Given the description of an element on the screen output the (x, y) to click on. 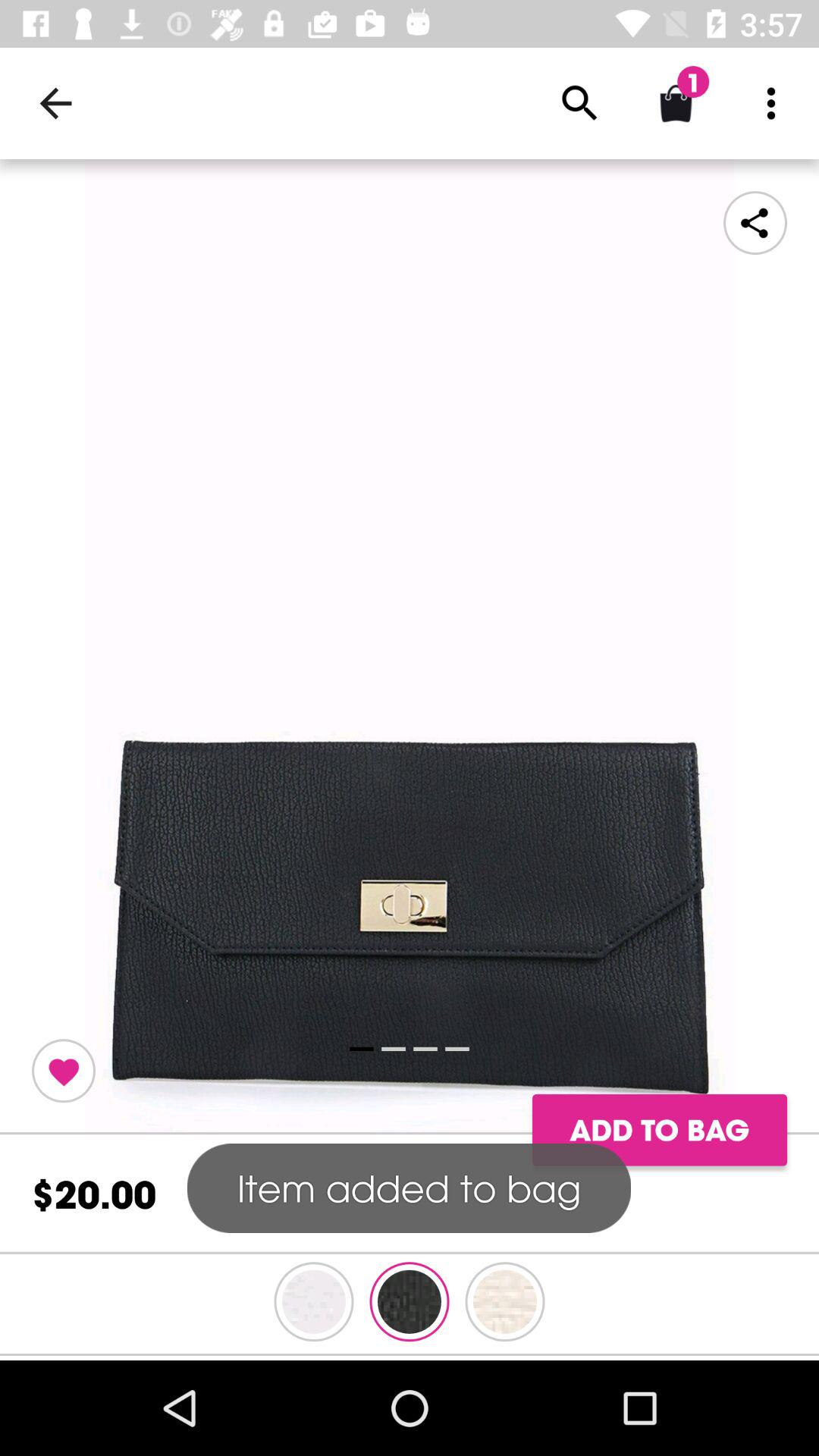
view image (409, 646)
